Given the description of an element on the screen output the (x, y) to click on. 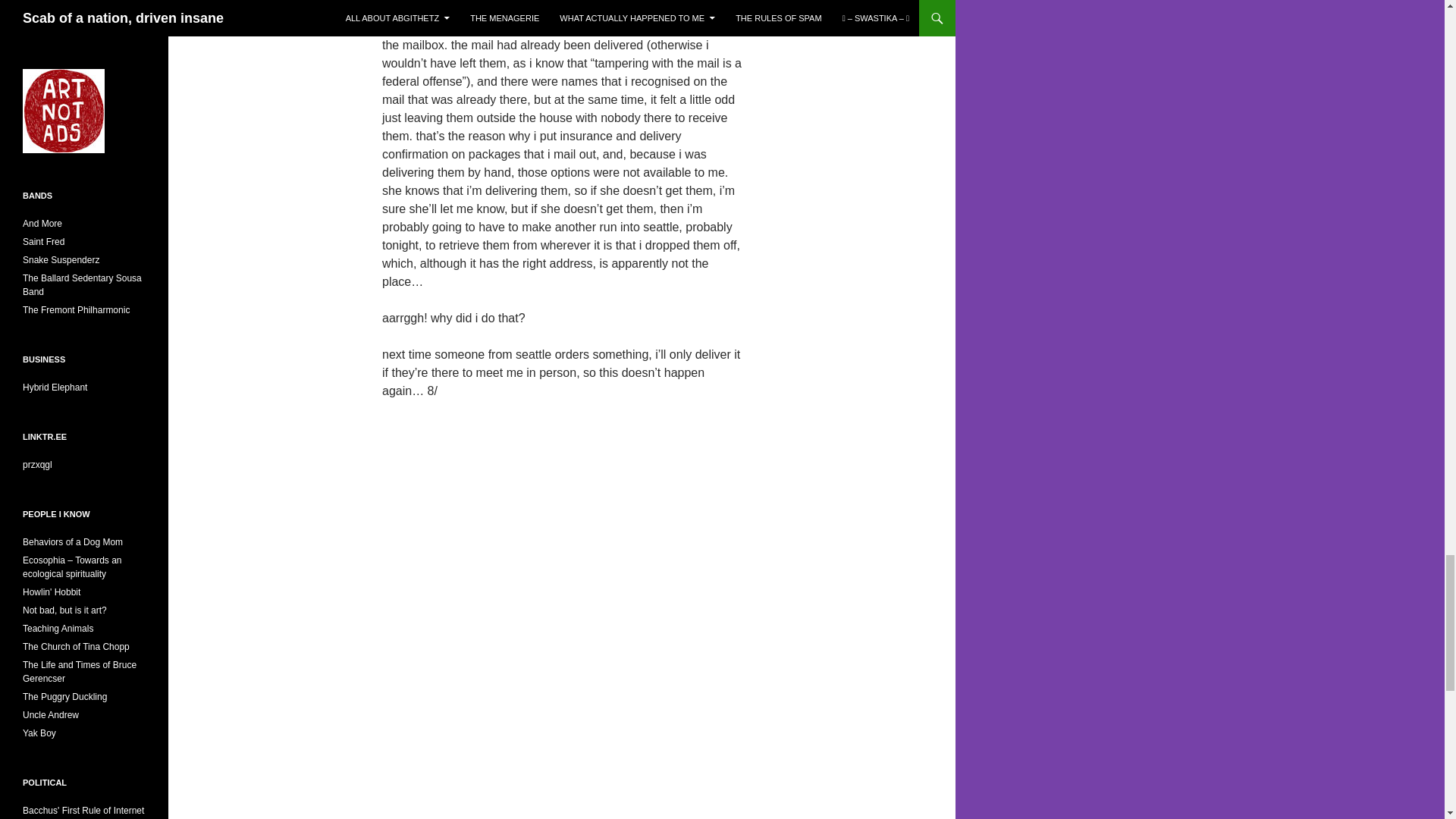
Magnificent Music for All Occasions (76, 309)
The World Famous Non-Marching Band from Ballard (82, 284)
The enlightened music of a brain damaged freak (43, 241)
